Given the description of an element on the screen output the (x, y) to click on. 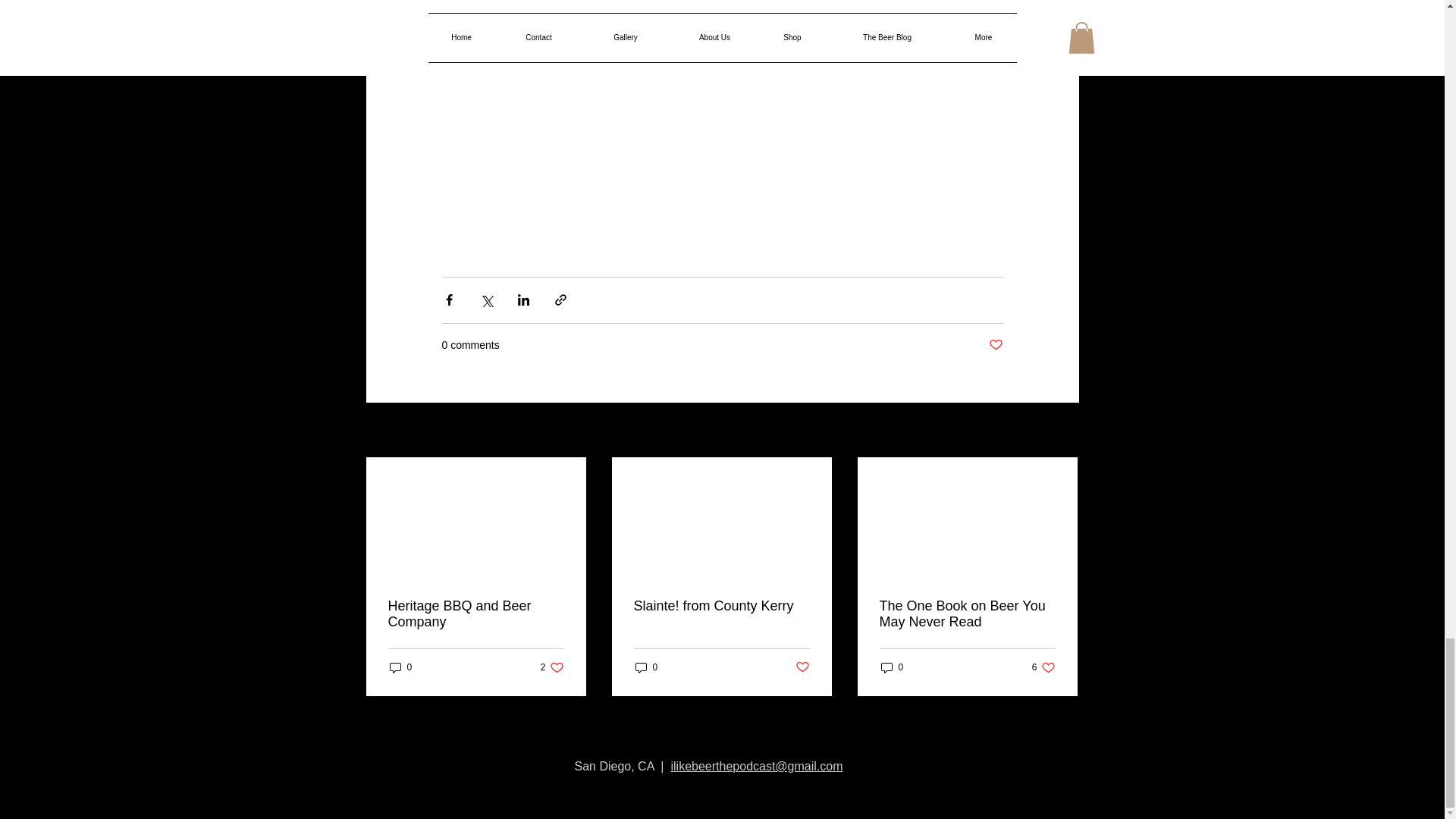
The One Book on Beer You May Never Read (967, 613)
Heritage BBQ and Beer Company (476, 613)
0 (646, 667)
Post not marked as liked (995, 344)
Slainte! from County Kerry (552, 667)
See All (721, 606)
Post not marked as liked (1061, 431)
0 (801, 667)
0 (400, 667)
